Given the description of an element on the screen output the (x, y) to click on. 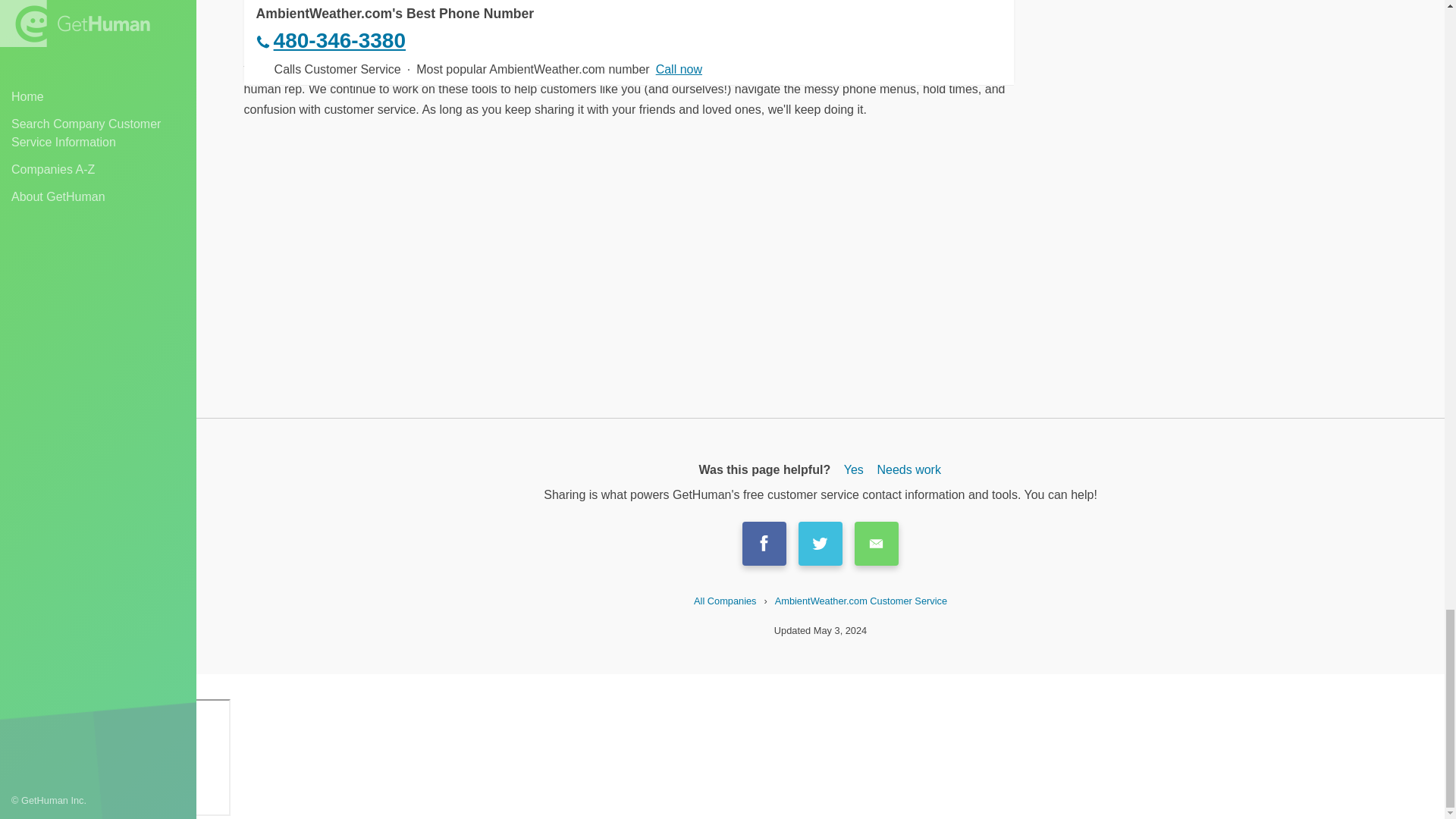
Share via Email (876, 543)
Share with Facebook (764, 543)
Share via Twitter (819, 543)
Yes (853, 470)
All Companies (725, 600)
AmbientWeather.com Customer Service (860, 600)
Needs work (908, 470)
